Given the description of an element on the screen output the (x, y) to click on. 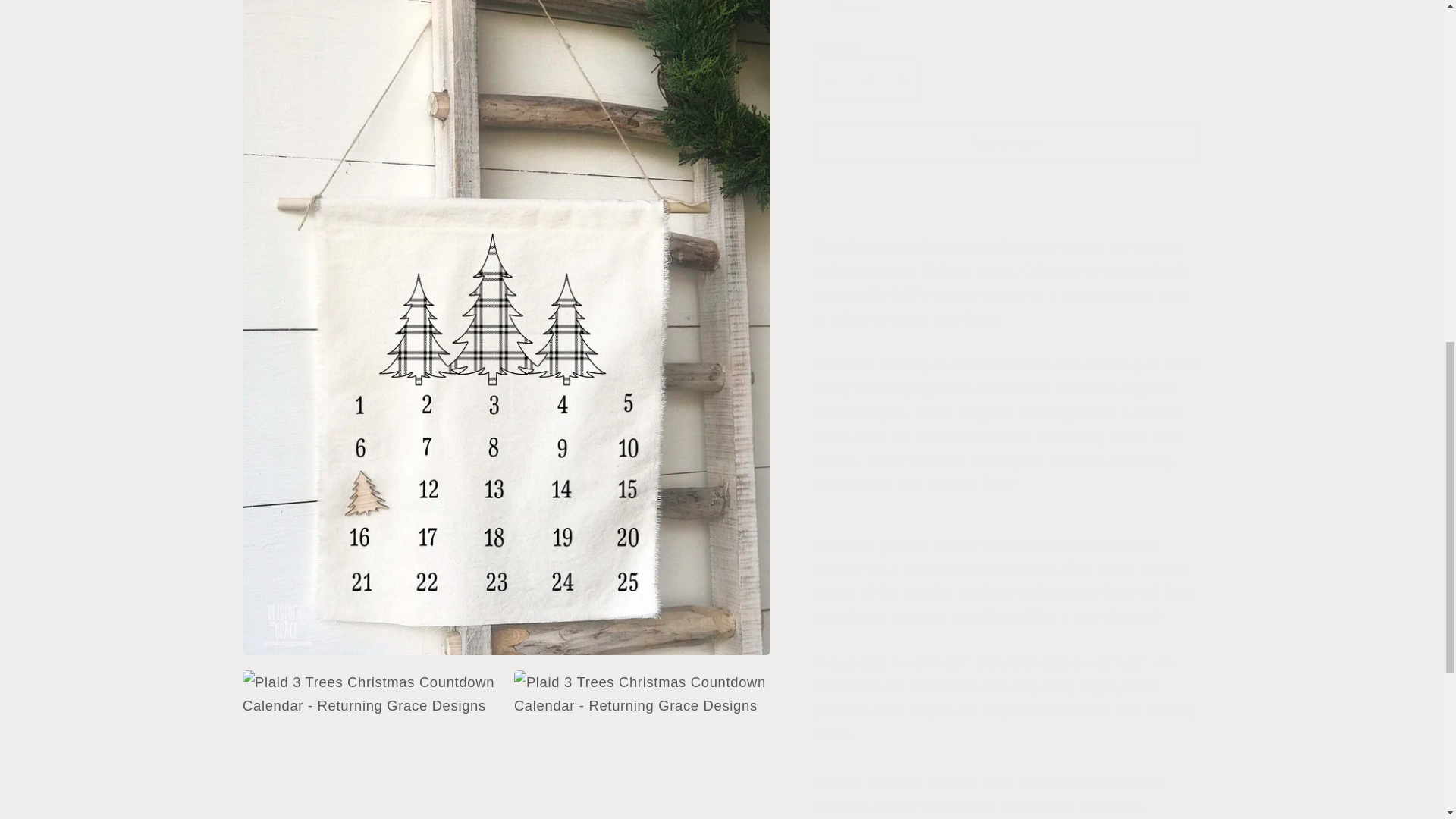
Open media 1 in modal (506, 20)
1 (867, 66)
